Given the description of an element on the screen output the (x, y) to click on. 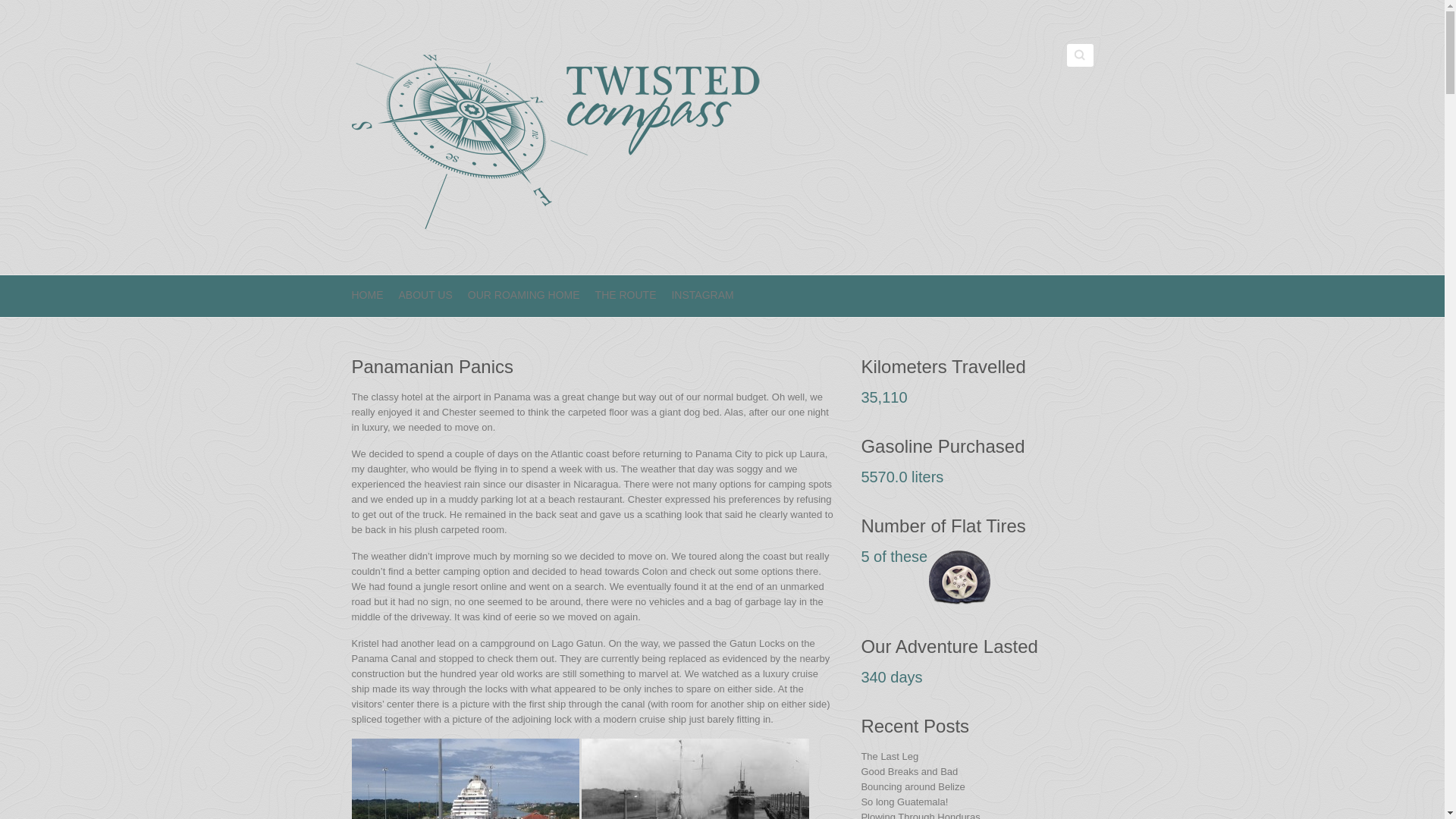
ABOUT US (425, 295)
INSTAGRAM (702, 295)
THE ROUTE (625, 295)
OUR ROAMING HOME (523, 295)
Twisted Compass (558, 137)
